Given the description of an element on the screen output the (x, y) to click on. 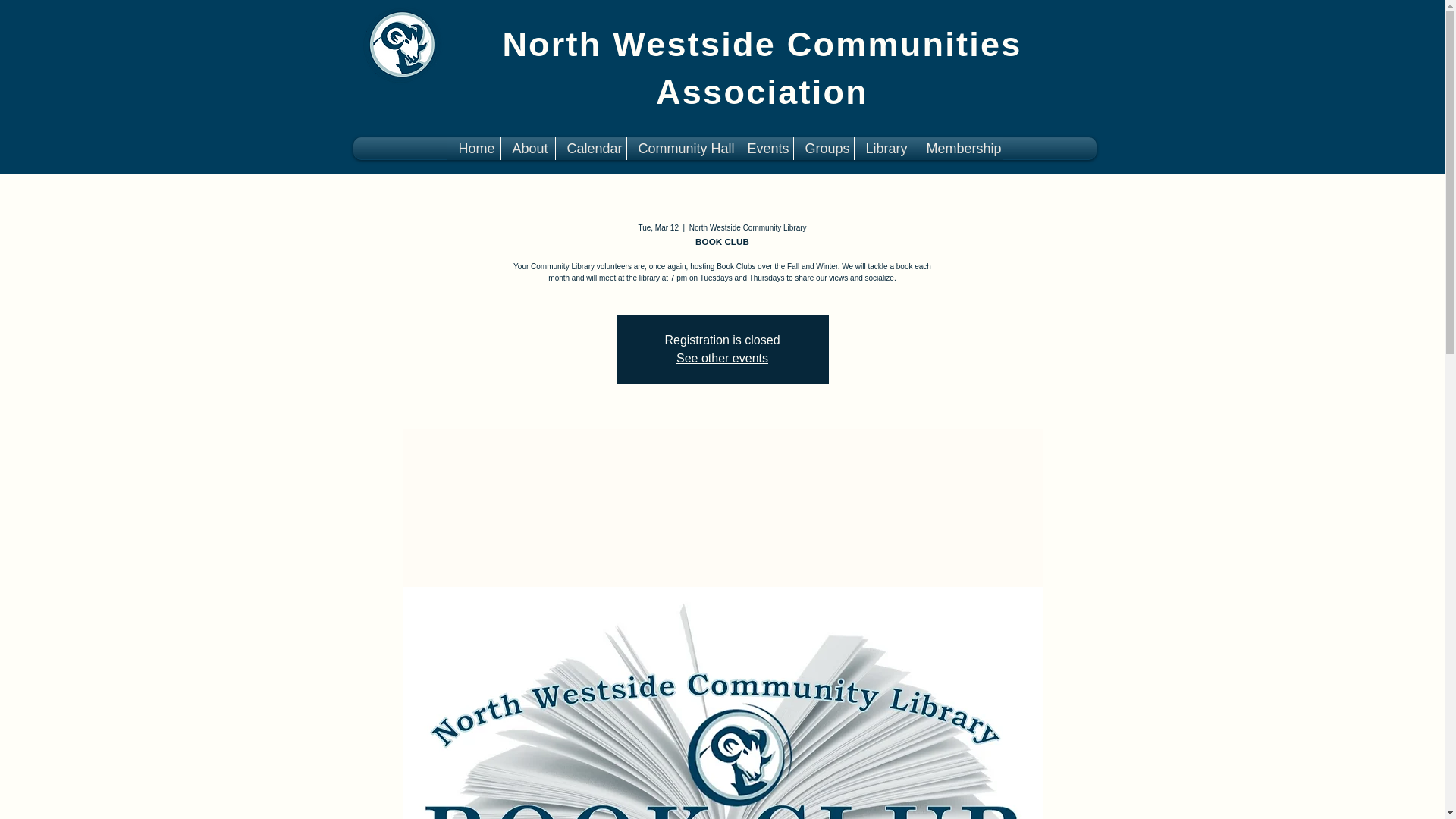
Groups (823, 148)
See other events (722, 358)
Events (764, 148)
Membership (958, 148)
Community Hall (681, 148)
Calendar (591, 148)
About (528, 148)
North Westside Communities Association (762, 68)
Library (885, 148)
Home (472, 148)
